Given the description of an element on the screen output the (x, y) to click on. 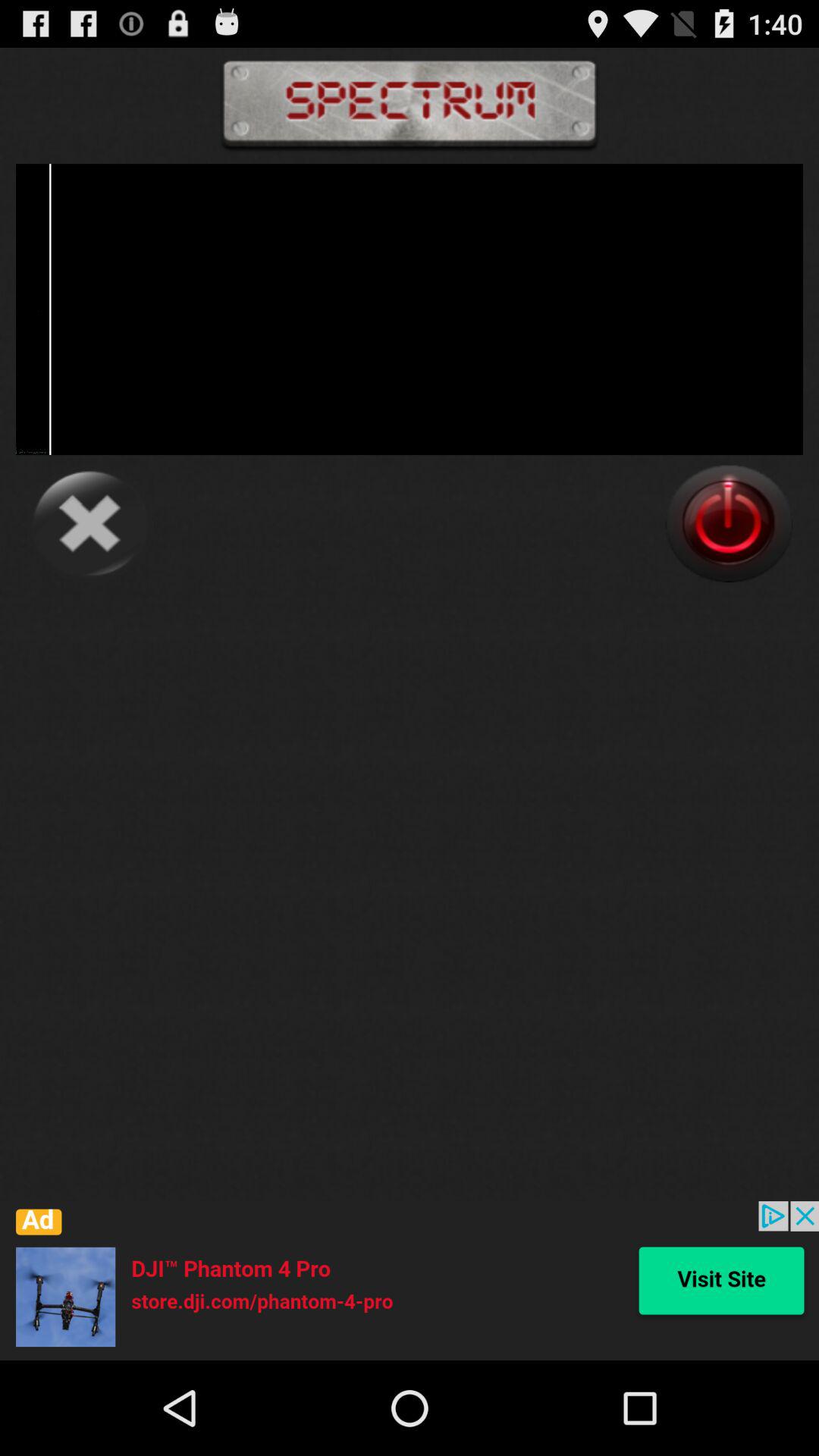
close page (89, 523)
